Given the description of an element on the screen output the (x, y) to click on. 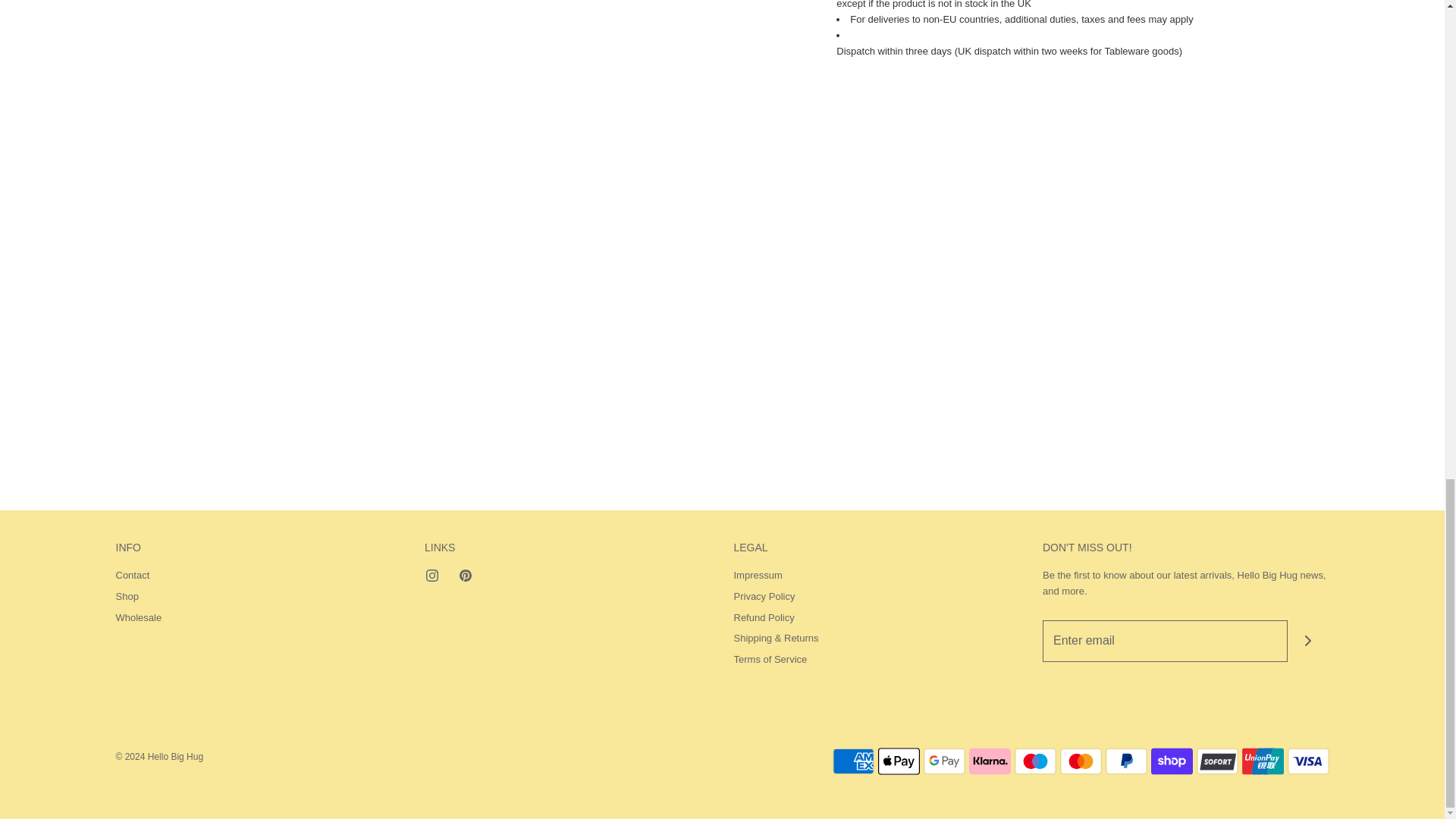
Apple Pay (898, 761)
Shop Pay (1171, 761)
Union Pay (1262, 761)
PayPal (1126, 761)
Google Pay (944, 761)
SOFORT (1217, 761)
American Express (853, 761)
Maestro (1035, 761)
Klarna (989, 761)
Visa (1308, 761)
Mastercard (1080, 761)
